Given the description of an element on the screen output the (x, y) to click on. 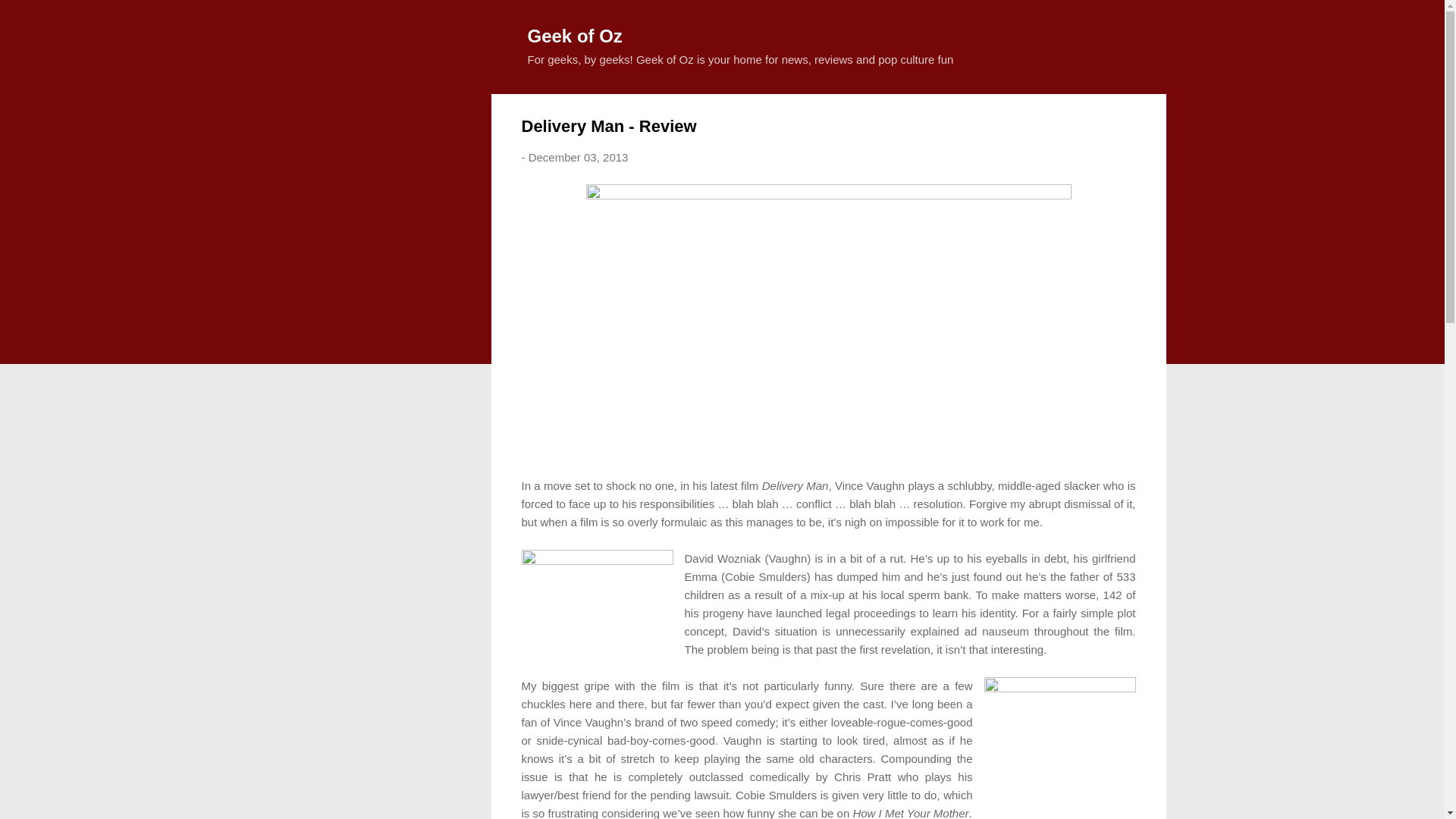
Search (29, 18)
Geek of Oz (575, 35)
December 03, 2013 (578, 156)
permanent link (578, 156)
